Given the description of an element on the screen output the (x, y) to click on. 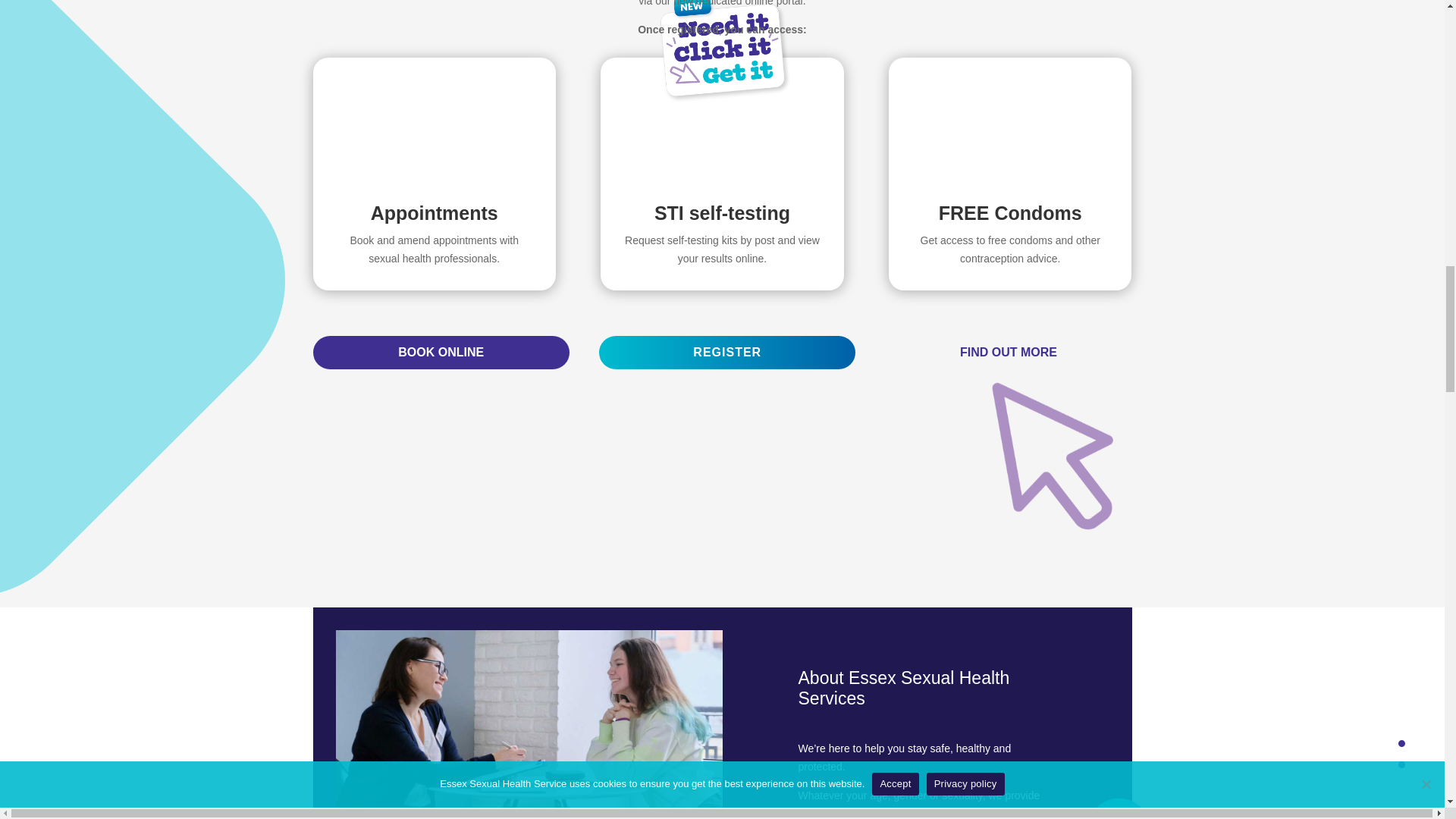
PHR Slogan logo and icons-01 (721, 54)
eshs chat (528, 724)
Graident arrow down (1128, 807)
PHR Slogan logo and icons-02 (1049, 456)
